Given the description of an element on the screen output the (x, y) to click on. 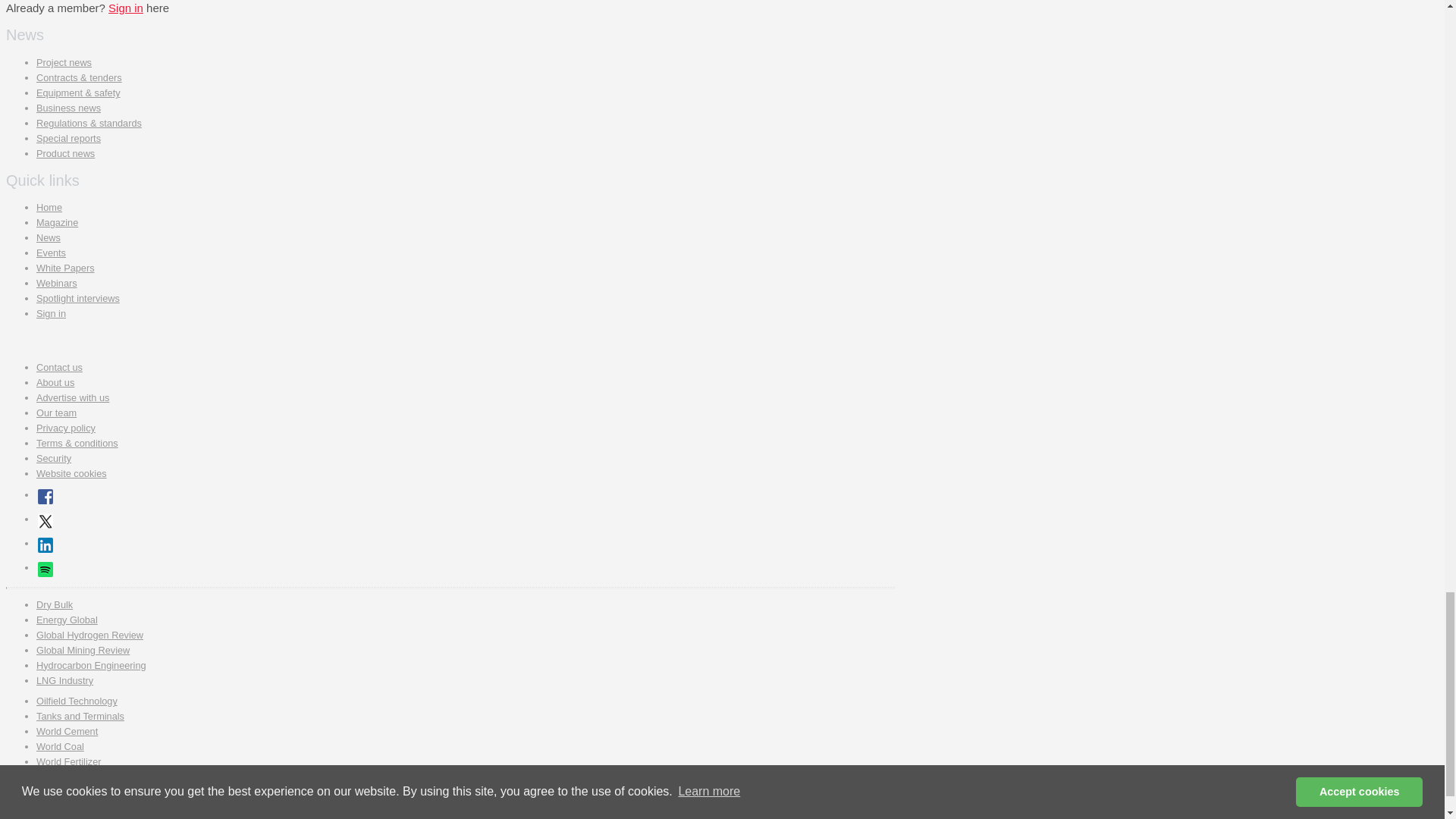
Sign in (124, 7)
Project news (63, 61)
